Given the description of an element on the screen output the (x, y) to click on. 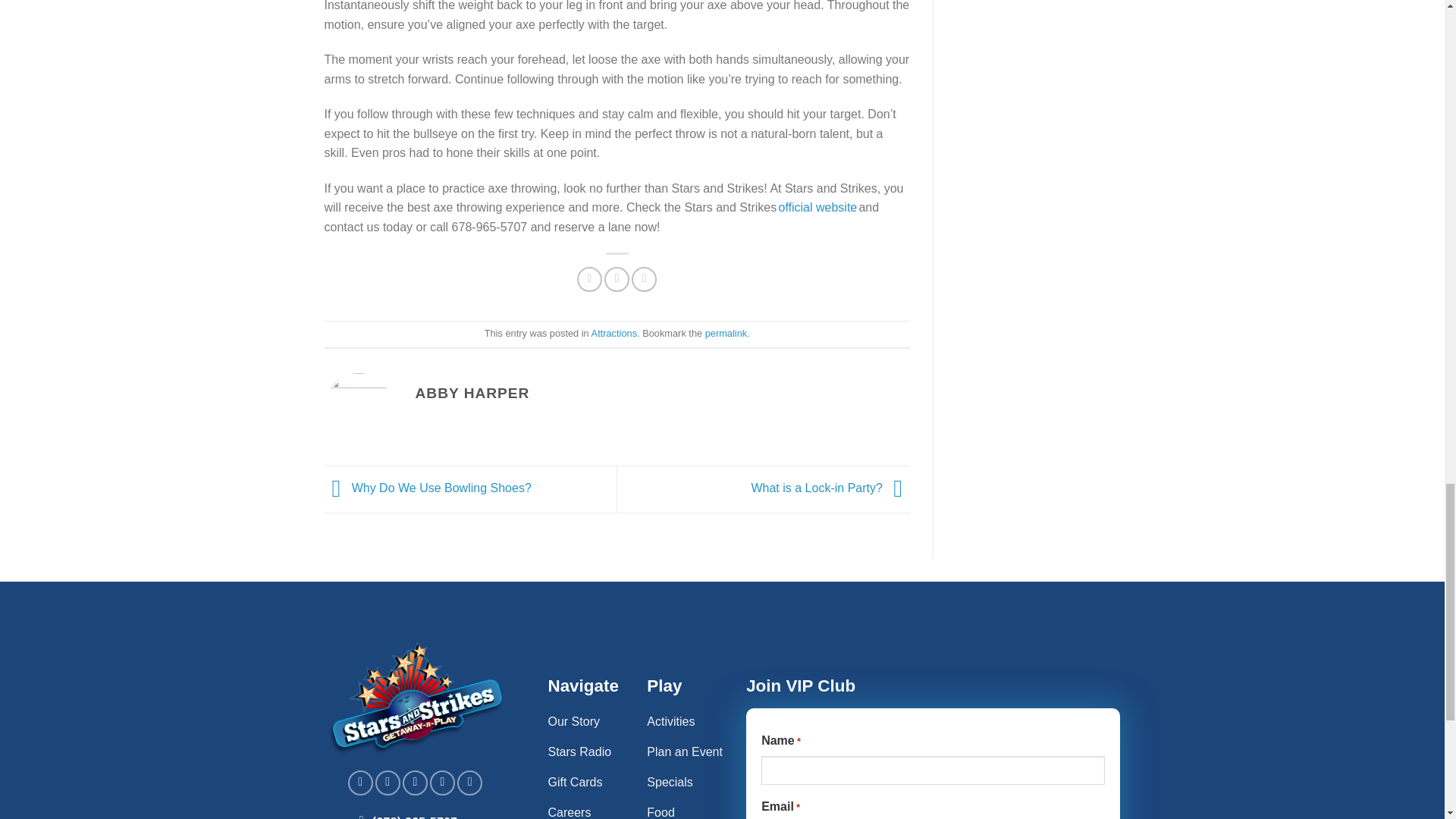
Share on LinkedIn (643, 278)
Follow on Facebook (359, 782)
Follow on Instagram (387, 782)
Permalink to What Are the Fundamentals of Axe Throwing? (725, 333)
Follow on X (441, 782)
Share on Twitter (616, 278)
Follow on LinkedIn (469, 782)
Share on Facebook (589, 278)
Follow on TikTok (415, 782)
